Given the description of an element on the screen output the (x, y) to click on. 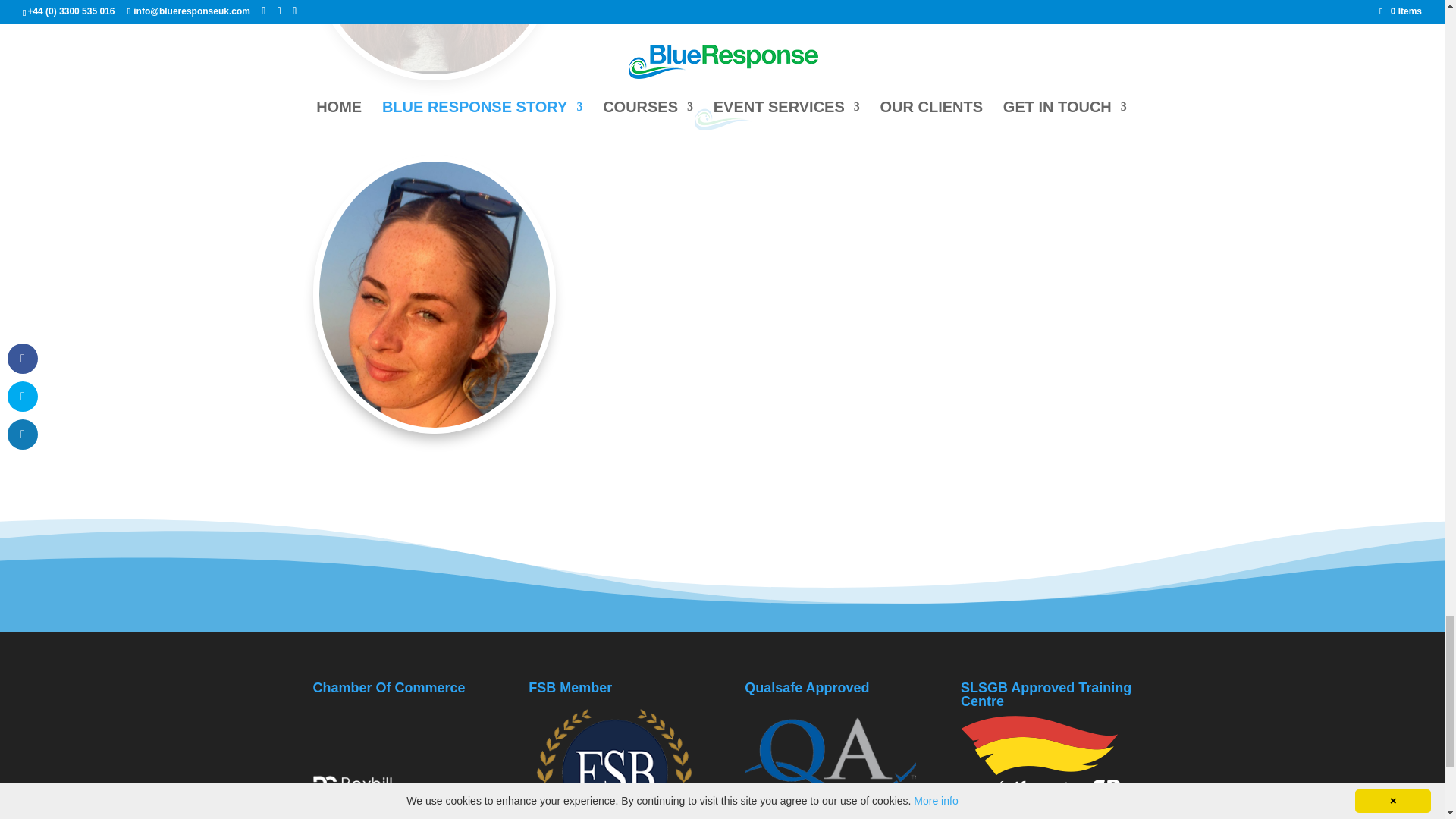
Kasey (433, 37)
